Given the description of an element on the screen output the (x, y) to click on. 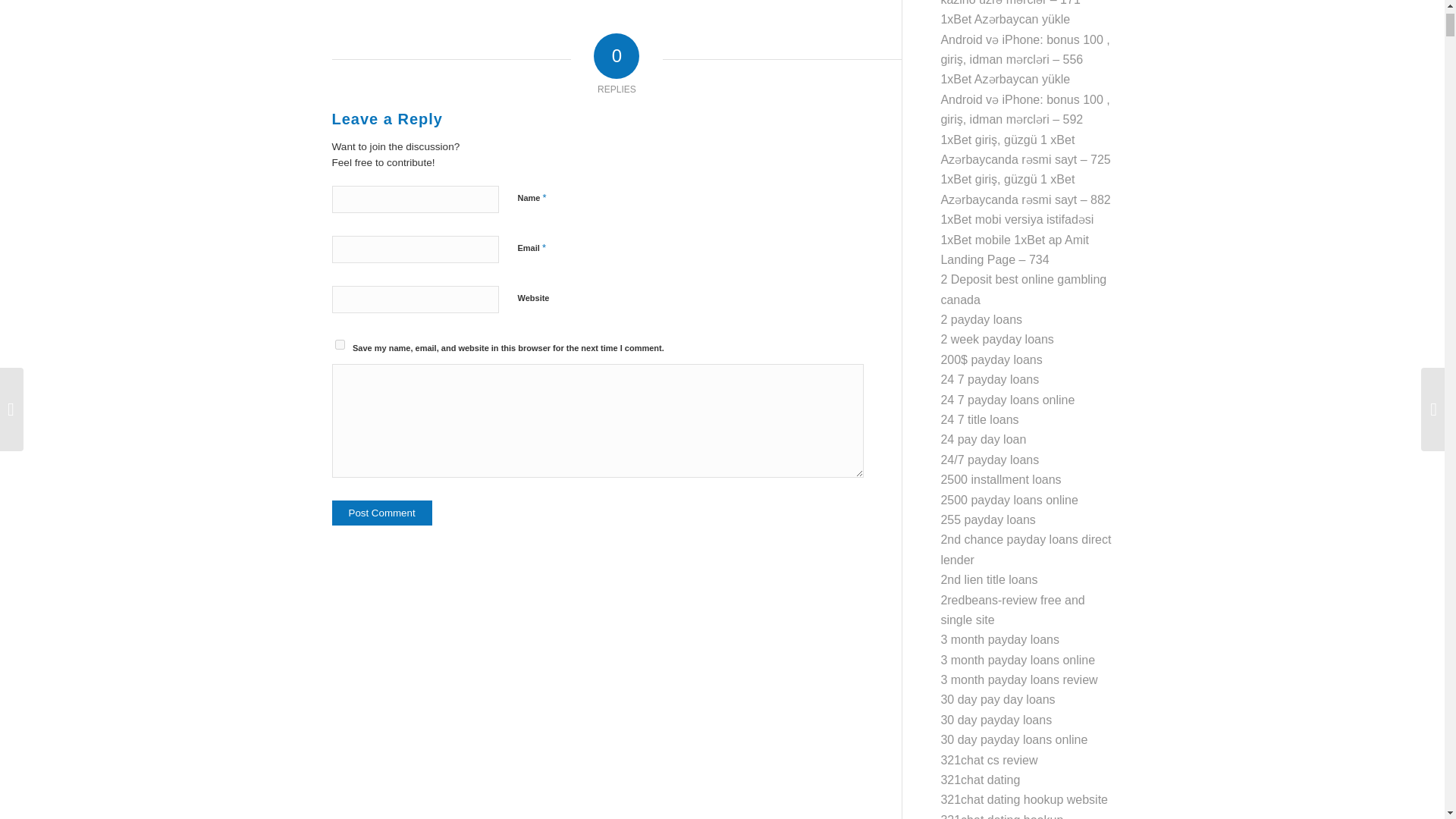
yes (339, 344)
Post Comment (381, 512)
Post Comment (381, 512)
